Given the description of an element on the screen output the (x, y) to click on. 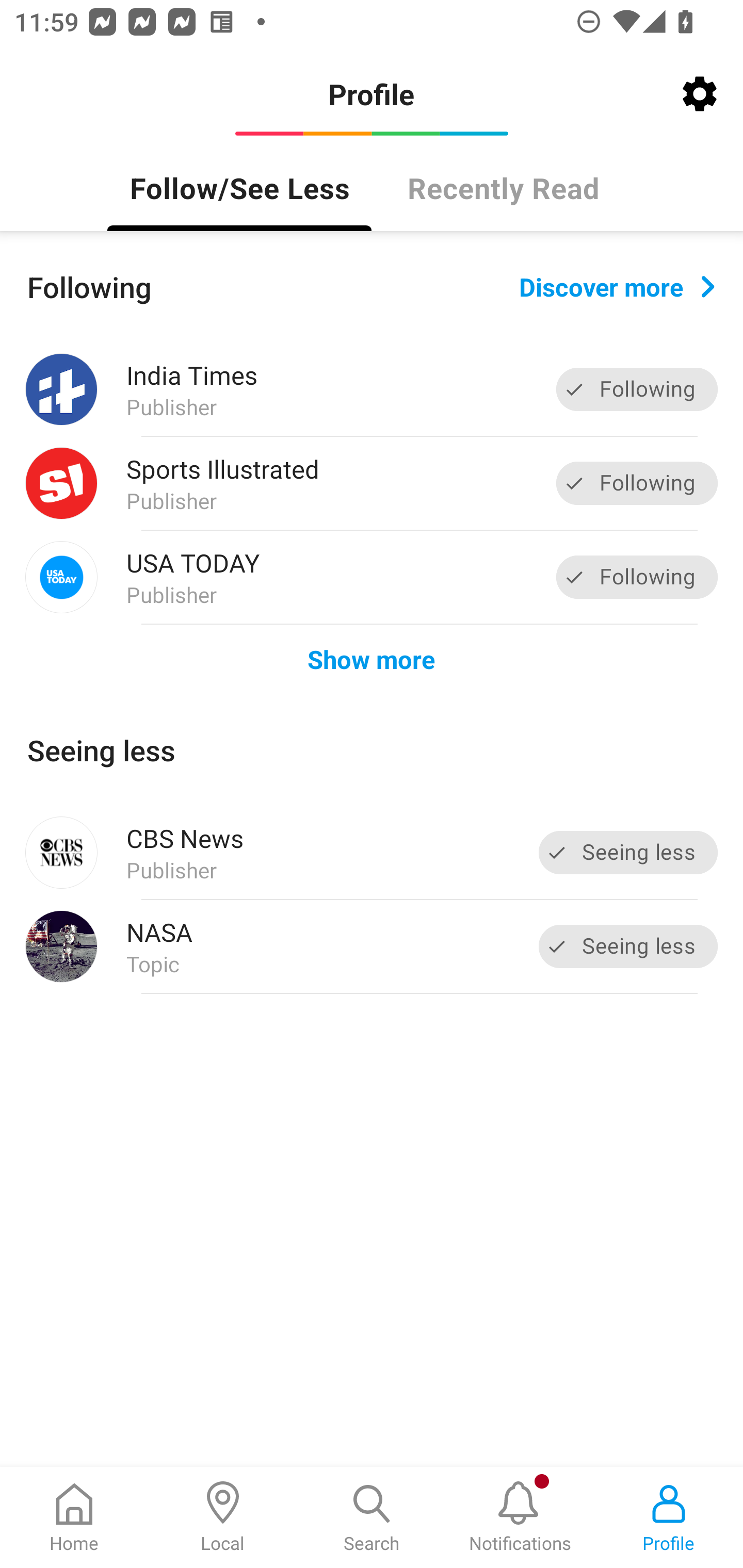
Settings (699, 93)
Recently Read (503, 187)
Discover more (617, 286)
India Times Publisher Following (371, 388)
Following (636, 389)
Sports Illustrated Publisher Following (371, 482)
Following (636, 482)
USA TODAY Publisher Following (371, 576)
Following (636, 576)
Show more (371, 659)
CBS News Publisher Seeing less (371, 852)
Seeing less (627, 852)
NASA Topic Seeing less (371, 947)
Seeing less (627, 946)
Home (74, 1517)
Local (222, 1517)
Search (371, 1517)
Notifications, New notification Notifications (519, 1517)
